Given the description of an element on the screen output the (x, y) to click on. 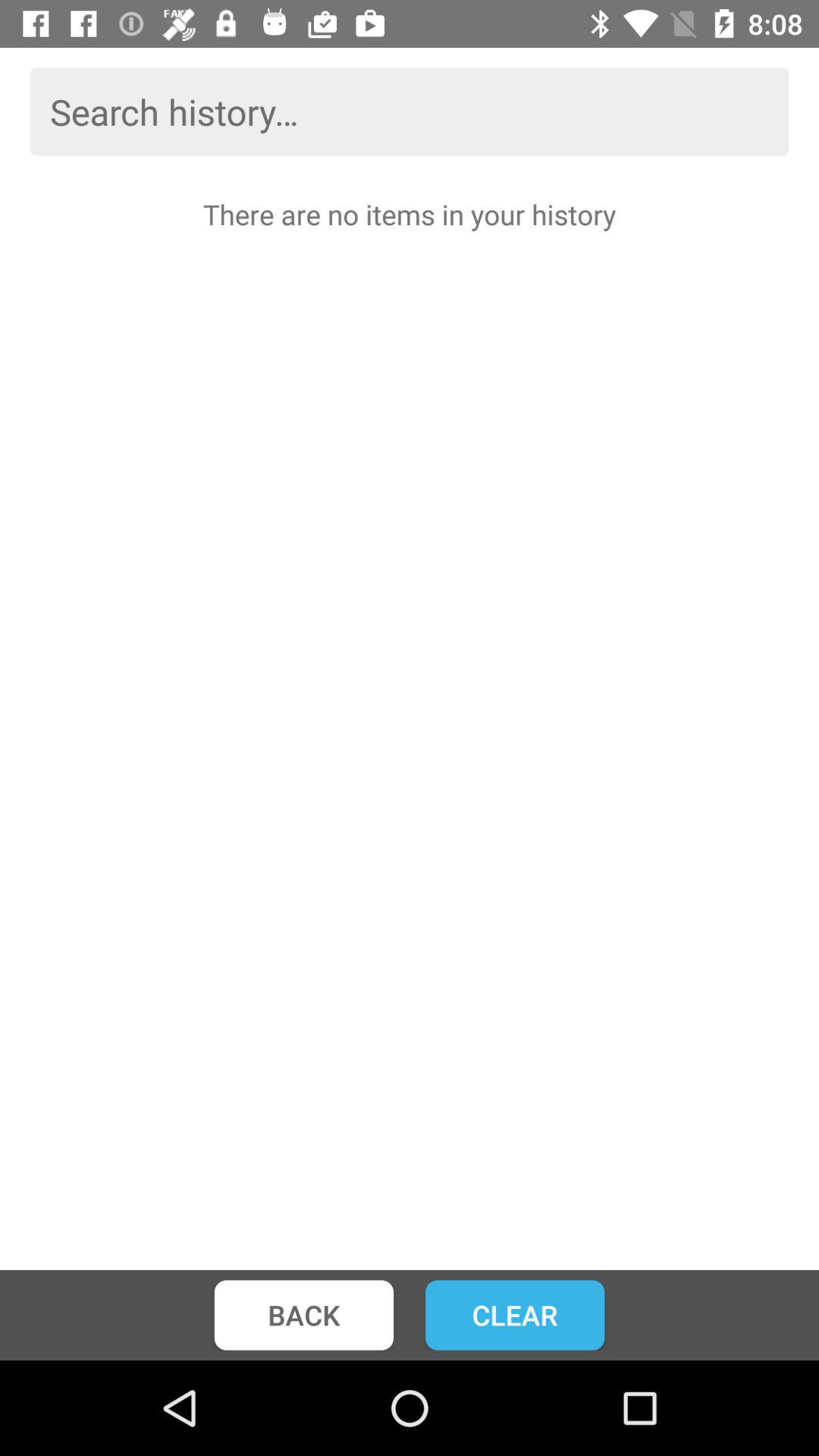
tap item next to the clear (303, 1315)
